Given the description of an element on the screen output the (x, y) to click on. 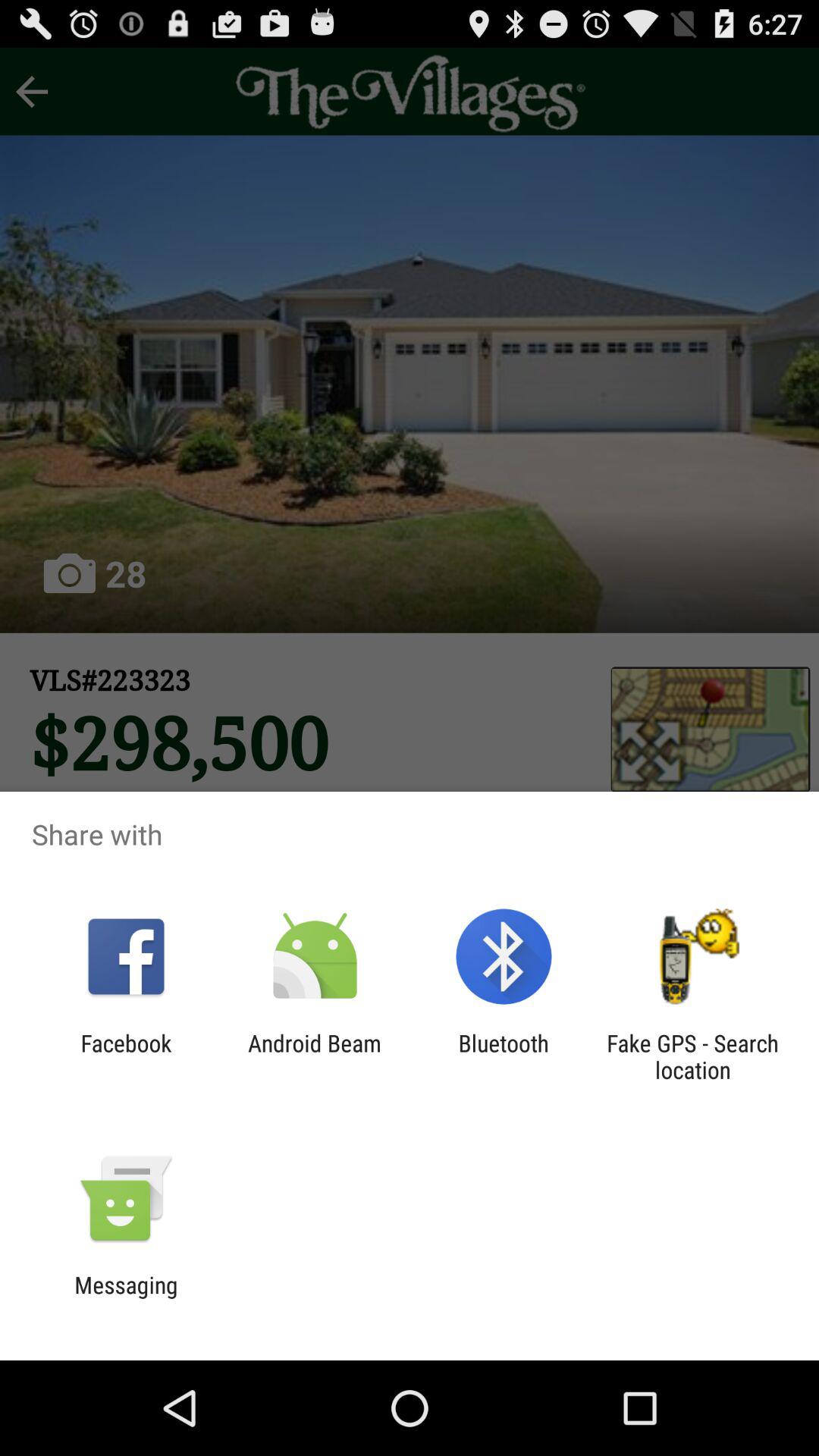
choose android beam (314, 1056)
